Given the description of an element on the screen output the (x, y) to click on. 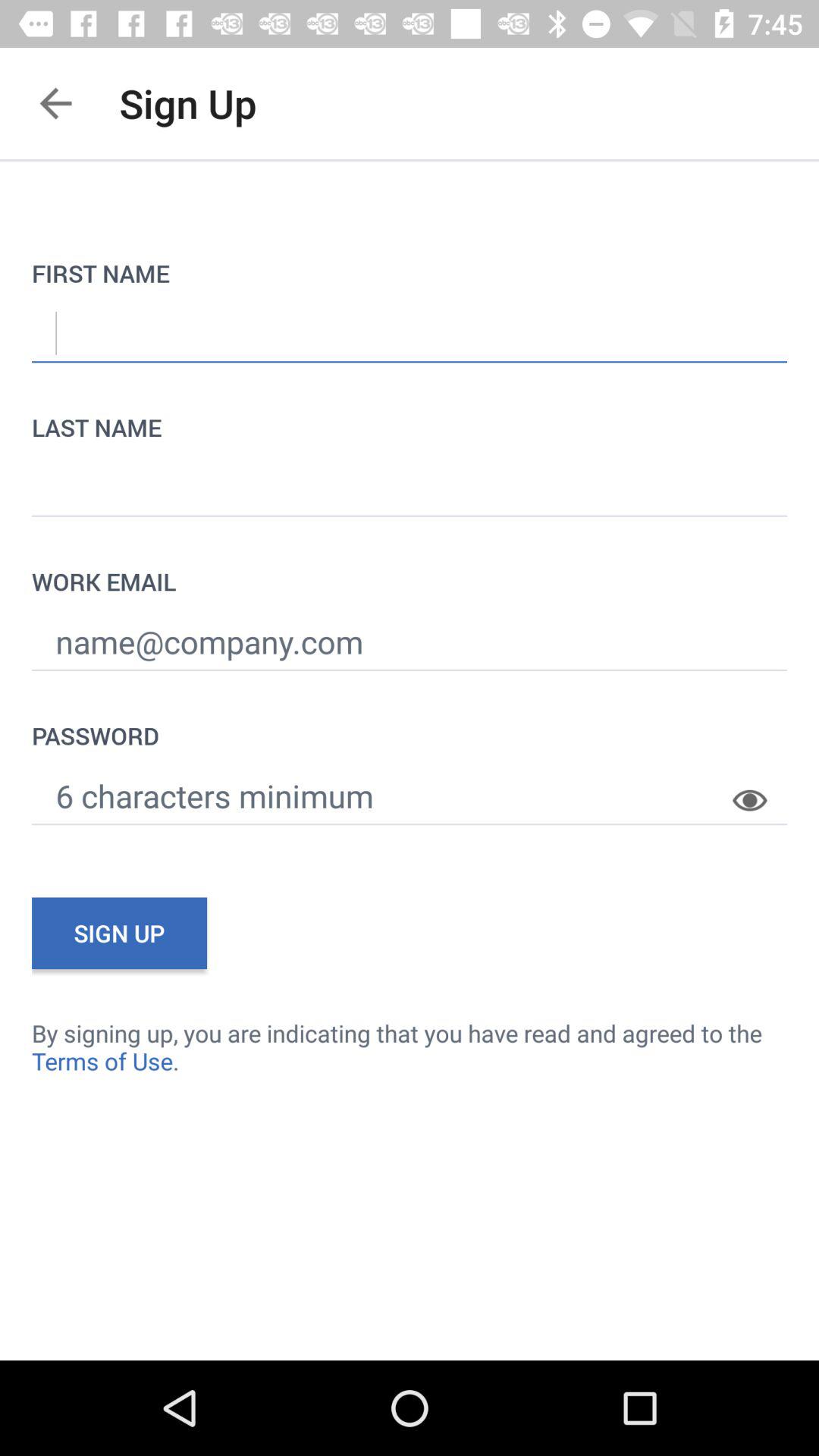
press the by signing up icon (409, 1046)
